Given the description of an element on the screen output the (x, y) to click on. 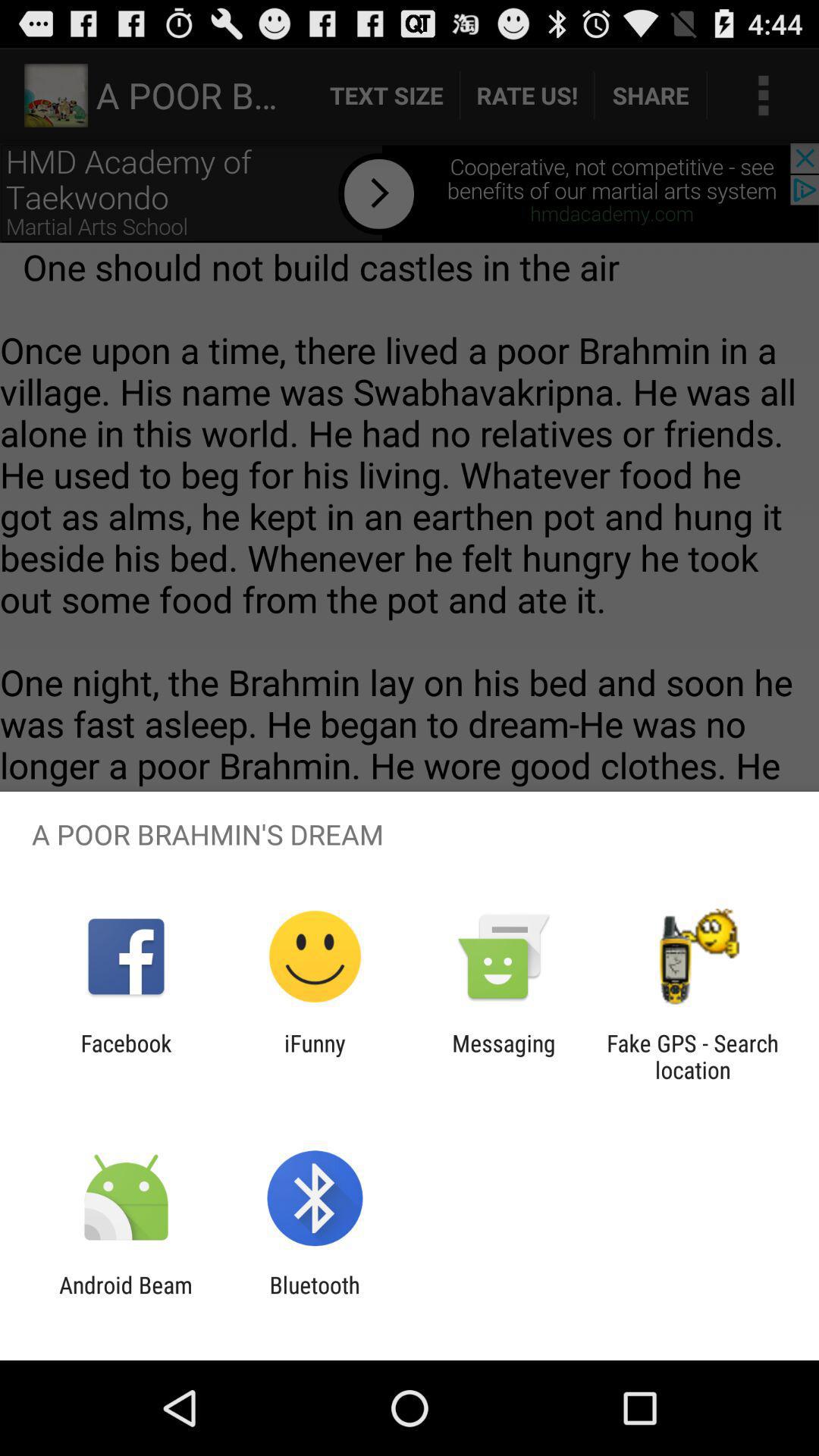
open the android beam item (125, 1298)
